Given the description of an element on the screen output the (x, y) to click on. 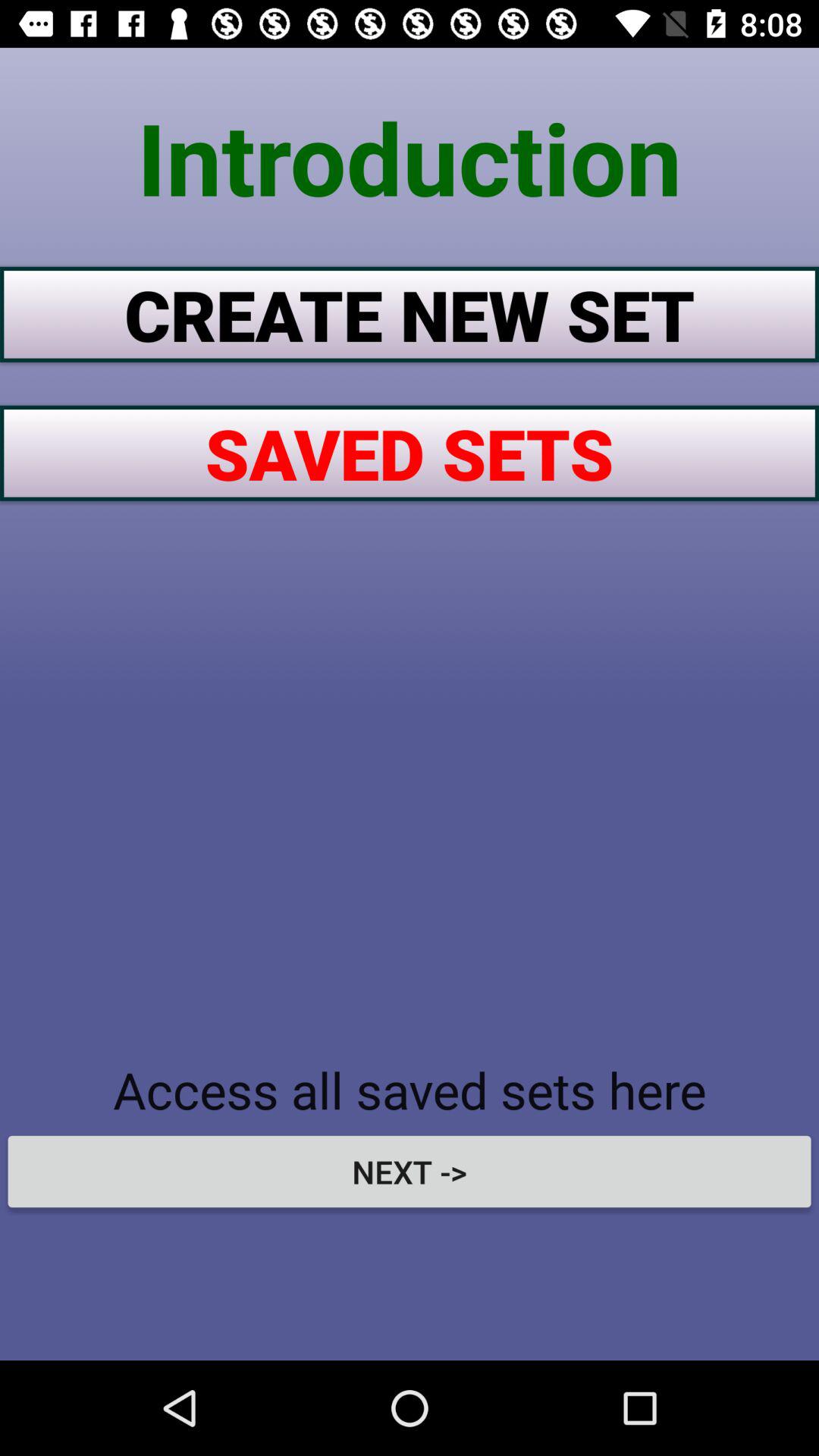
press app below the access all saved icon (409, 1171)
